Given the description of an element on the screen output the (x, y) to click on. 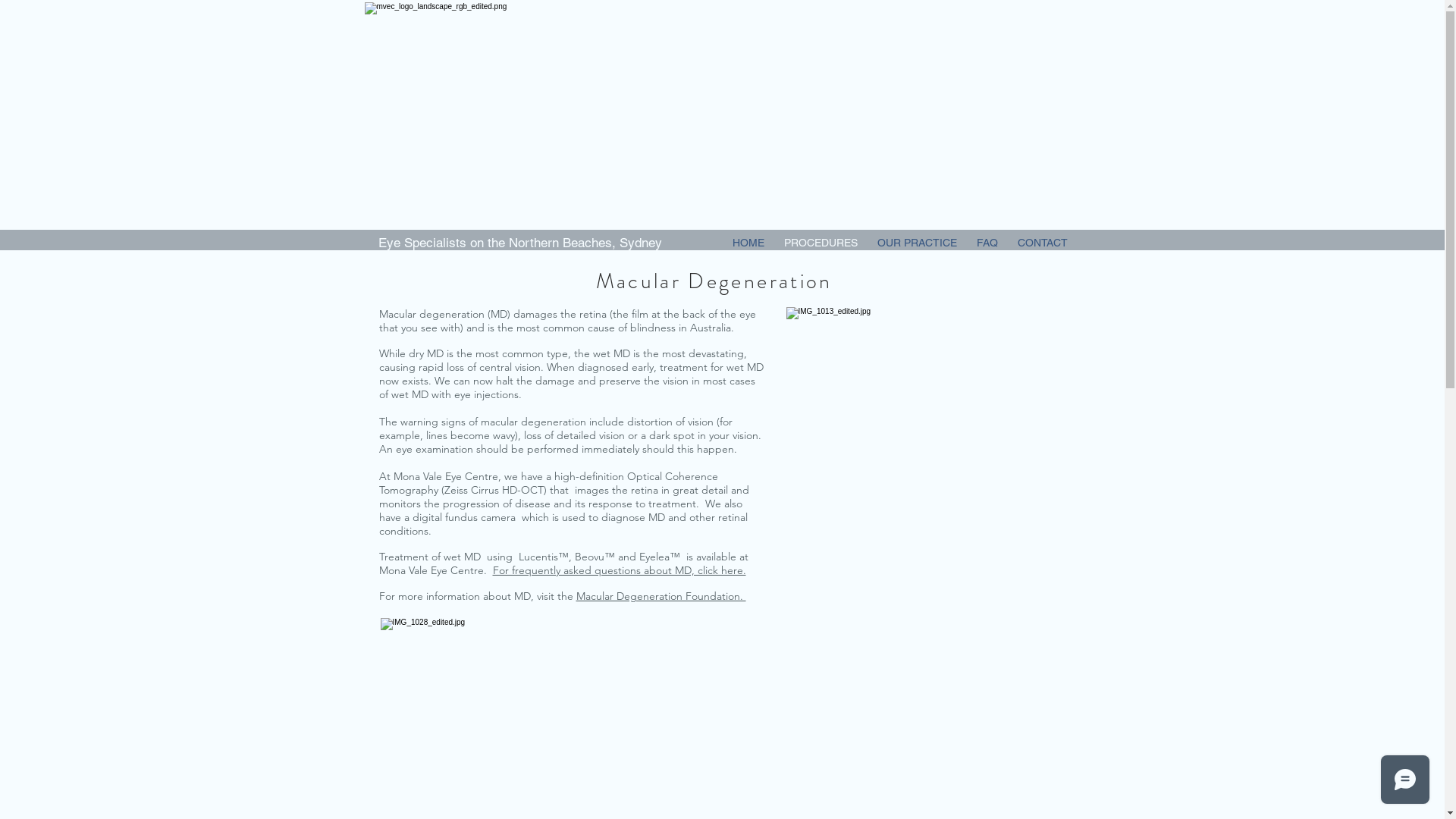
OCT.jpg Element type: hover (913, 408)
Macular Degeneration Foundation.  Element type: text (661, 595)
OUR PRACTICE Element type: text (916, 242)
For frequently asked questions about MD, click here. Element type: text (619, 570)
FAQ Element type: text (986, 242)
CONTACT Element type: text (1041, 242)
PROCEDURES Element type: text (819, 242)
HOME Element type: text (747, 242)
